Given the description of an element on the screen output the (x, y) to click on. 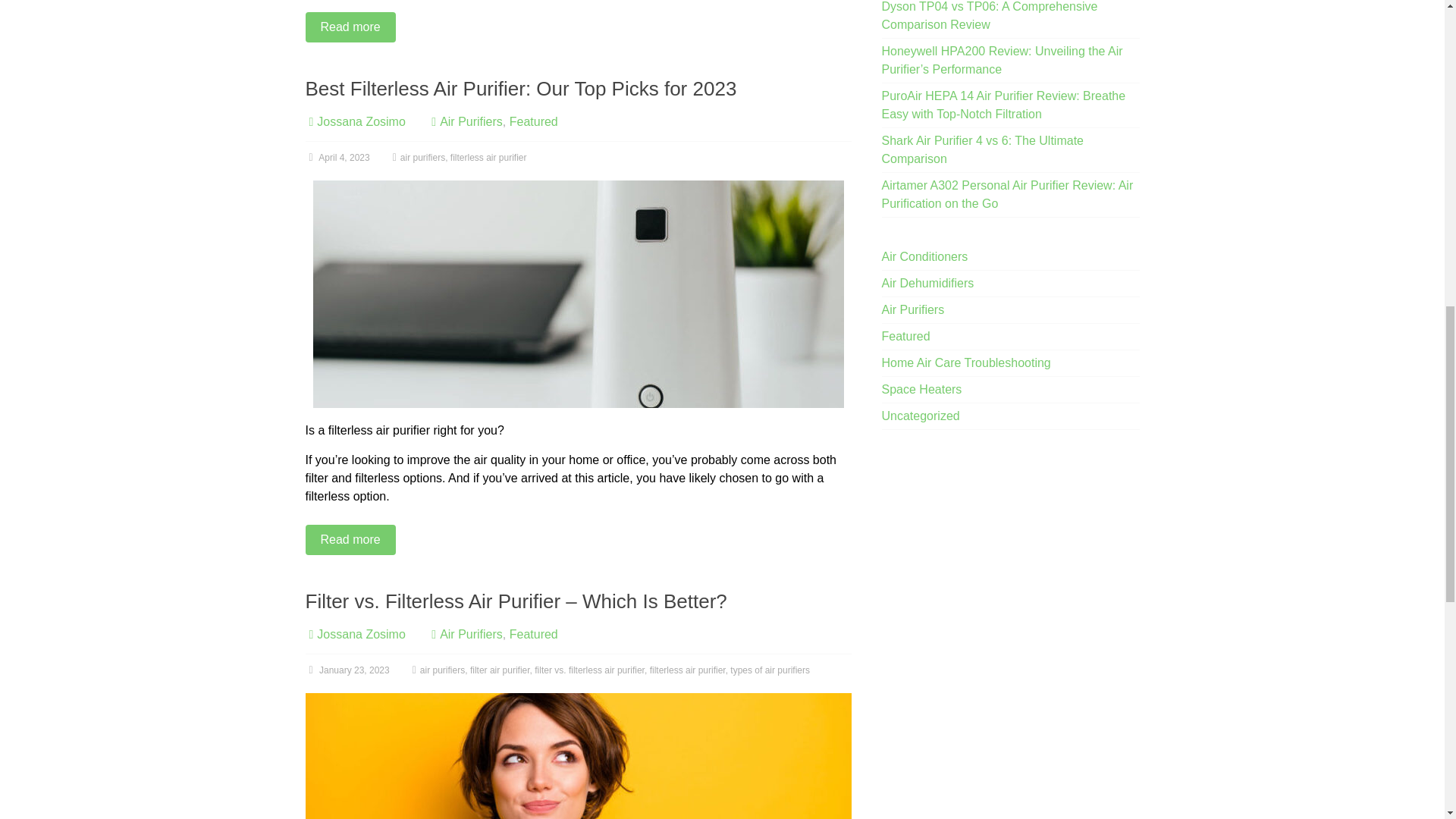
filterless air purifier (488, 157)
Read more (577, 539)
air purifiers (442, 670)
12:49 am (336, 157)
Air Purifiers (470, 634)
Featured (533, 121)
Read more (577, 27)
Air Purifiers (470, 121)
4:20 am (346, 670)
air purifiers (422, 157)
